Given the description of an element on the screen output the (x, y) to click on. 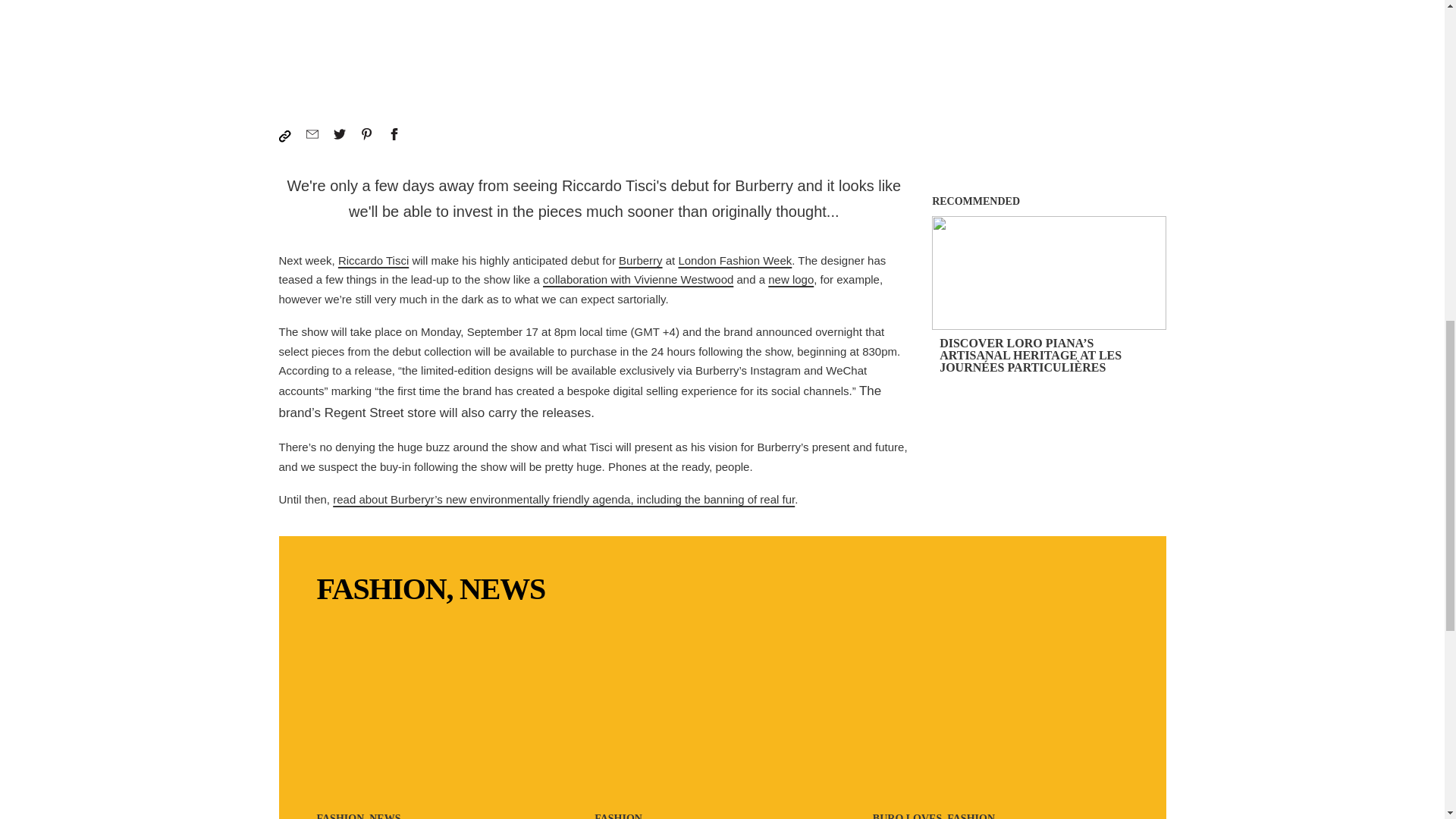
Riccardo Tisci (373, 259)
London Fashion Week (735, 259)
Burberry (640, 259)
collaboration with Vivienne Westwood (638, 278)
new logo (790, 278)
